Given the description of an element on the screen output the (x, y) to click on. 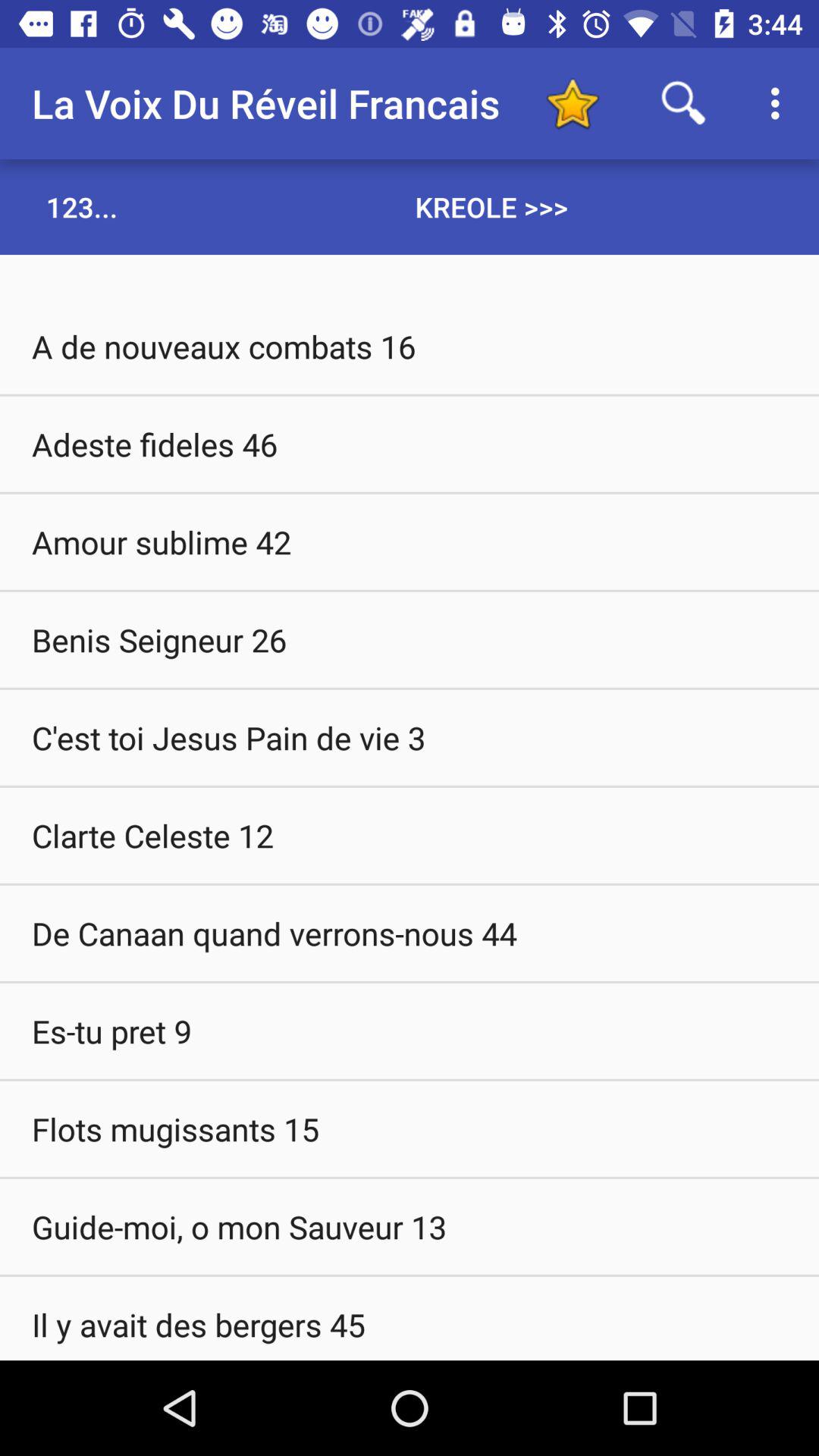
scroll to the adeste fideles 46 item (409, 443)
